Given the description of an element on the screen output the (x, y) to click on. 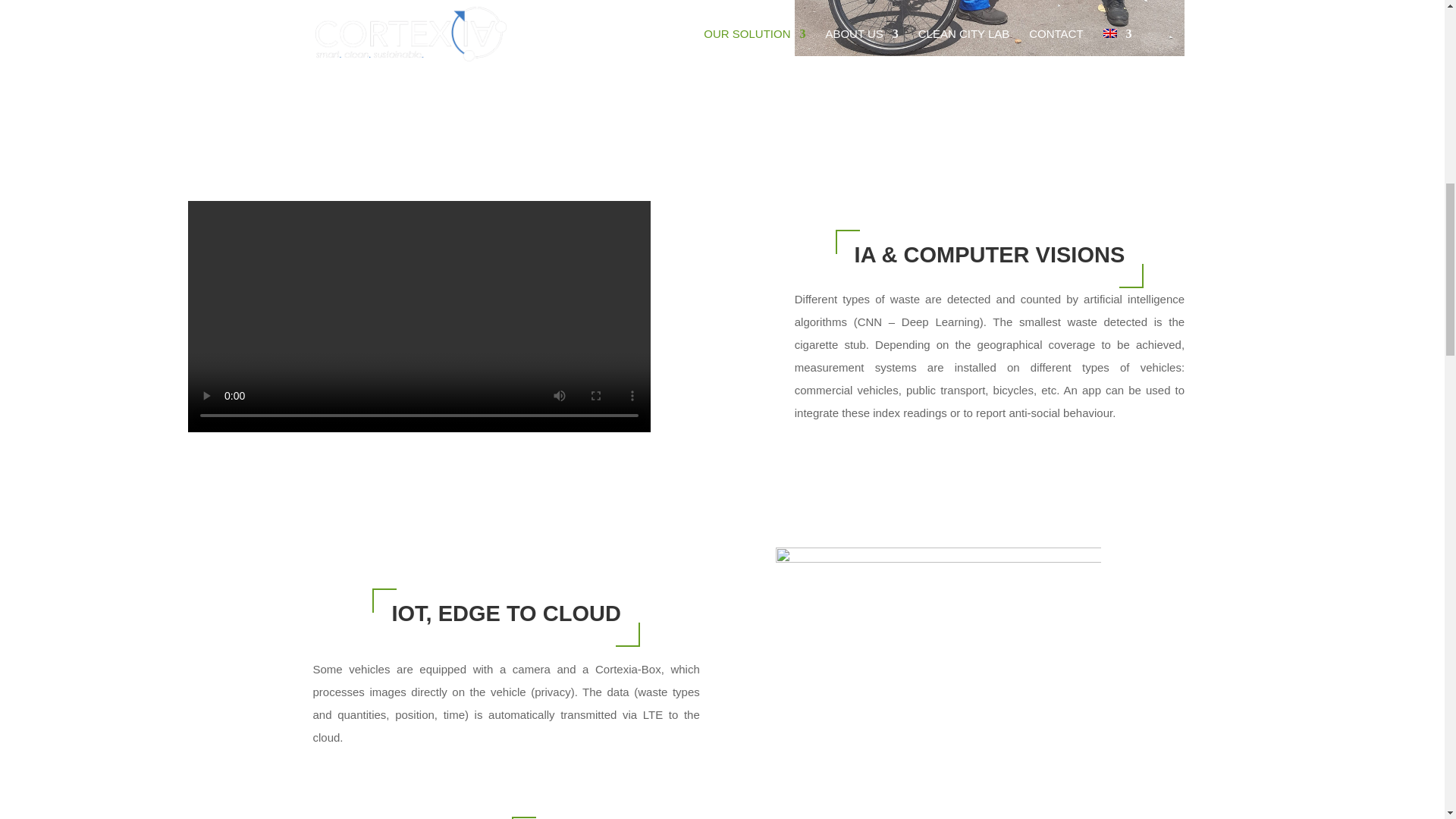
Cortexia-bike (989, 28)
